Given the description of an element on the screen output the (x, y) to click on. 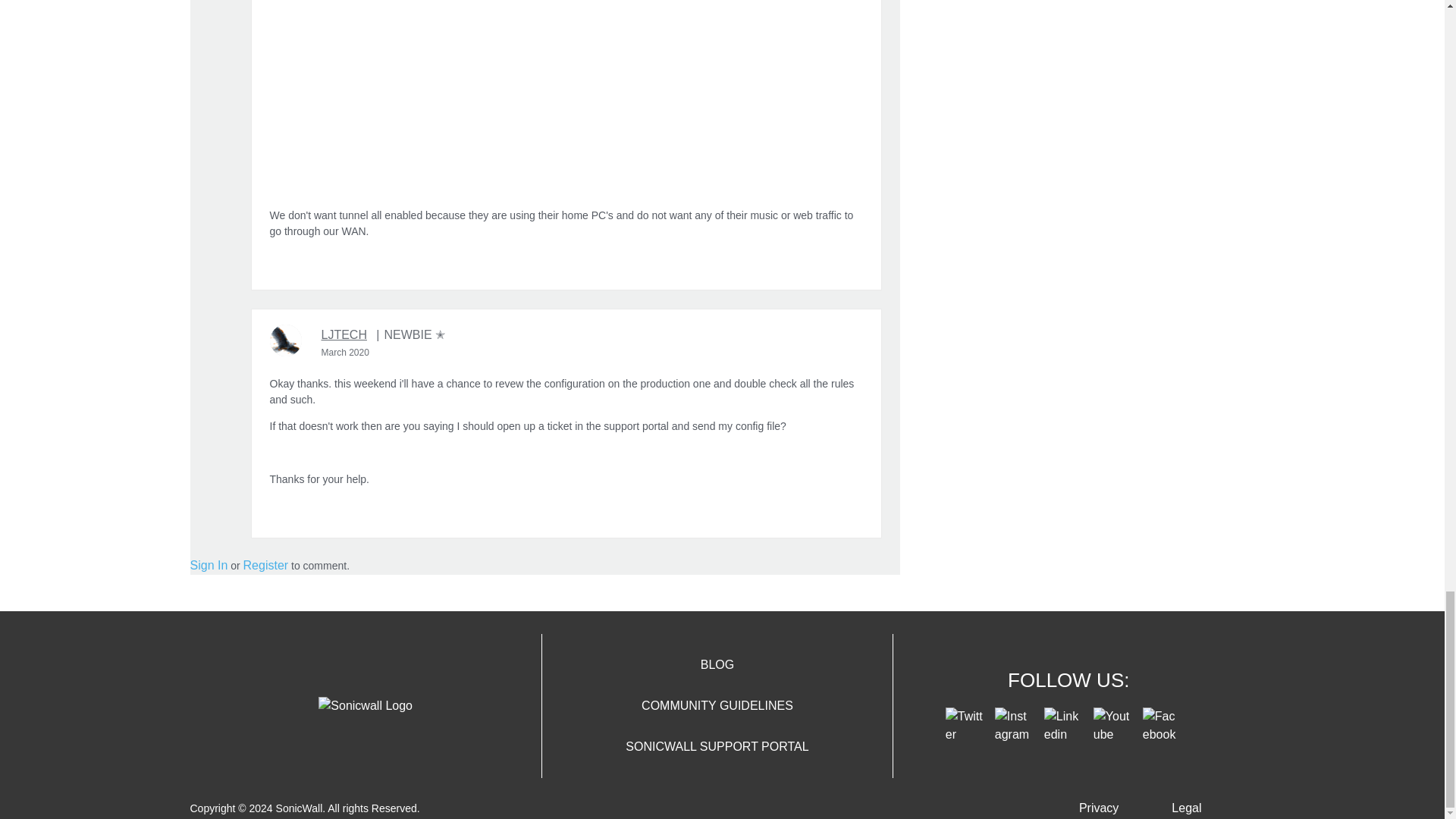
March 20 2020 04:11pm (345, 352)
LJTech (285, 340)
Newbie (410, 334)
